Given the description of an element on the screen output the (x, y) to click on. 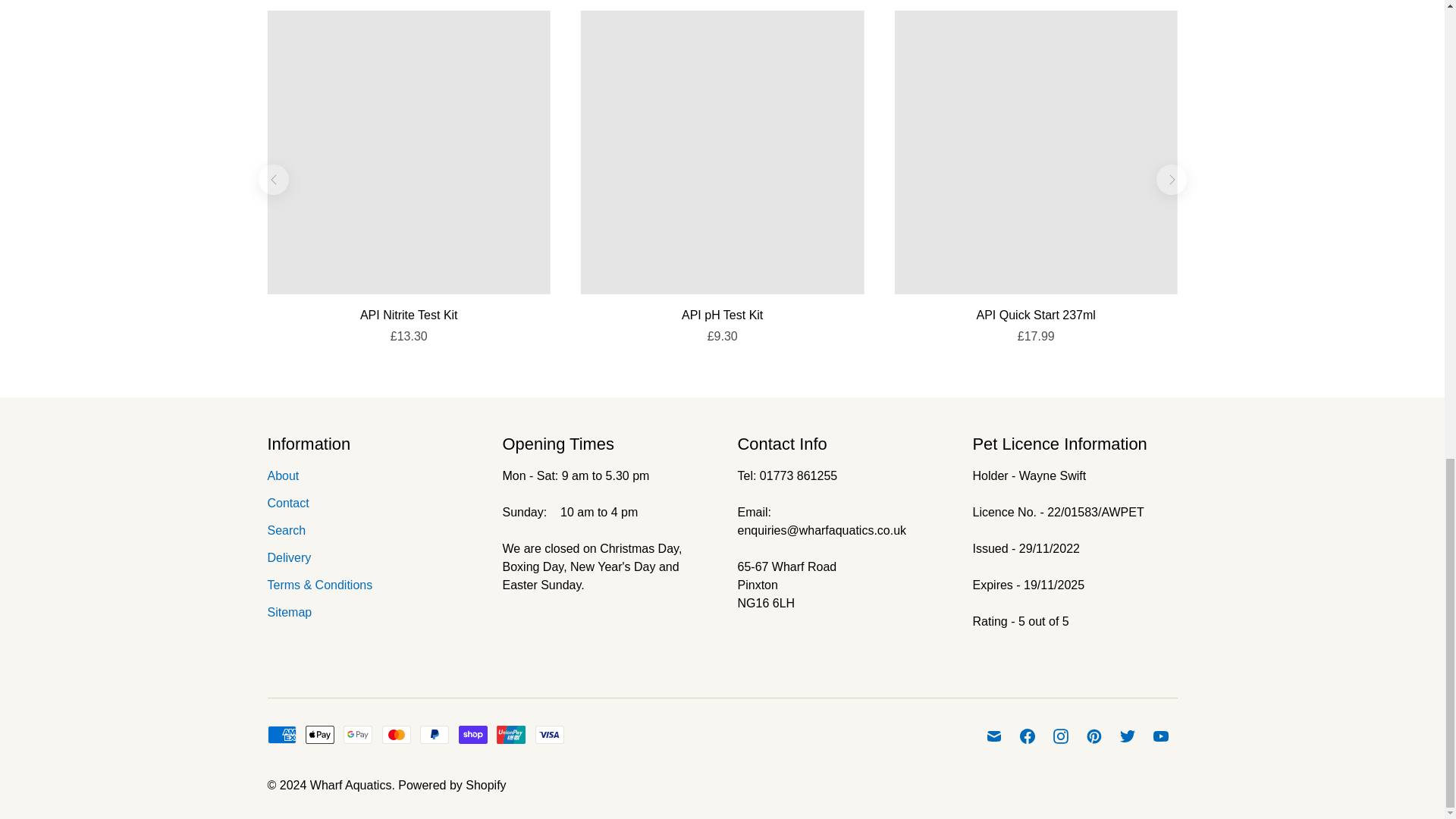
Google Pay (357, 734)
Union Pay (510, 734)
Apple Pay (319, 734)
PayPal (434, 734)
Mastercard (395, 734)
Shop Pay (472, 734)
American Express (280, 734)
